Given the description of an element on the screen output the (x, y) to click on. 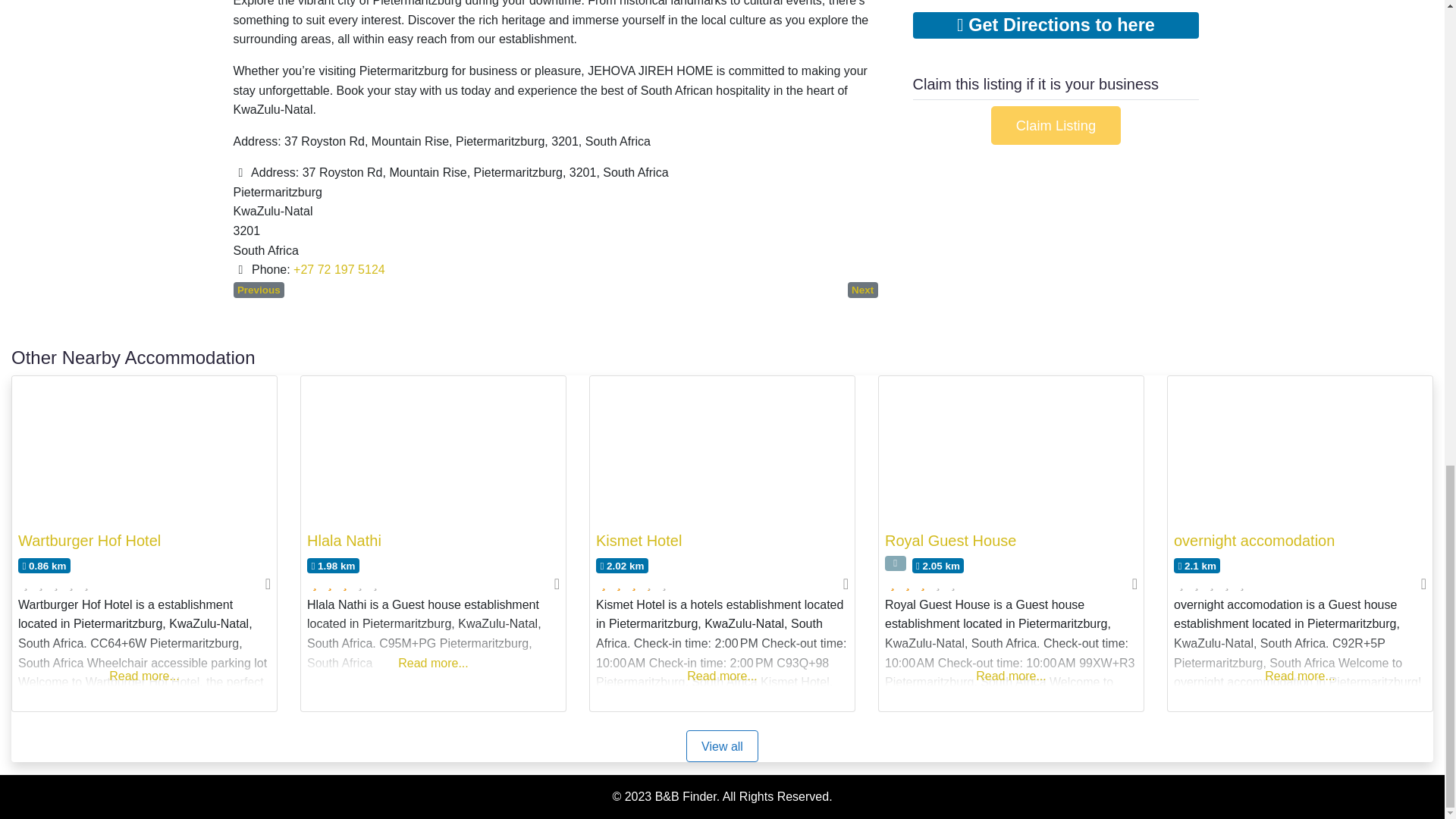
Hlala Nathi (344, 540)
Read more... (143, 657)
0.86 km (43, 565)
Previous (258, 289)
Read more... (433, 645)
1.98 km (333, 565)
Wartburger Hof Hotel (88, 540)
Next (862, 289)
